Given the description of an element on the screen output the (x, y) to click on. 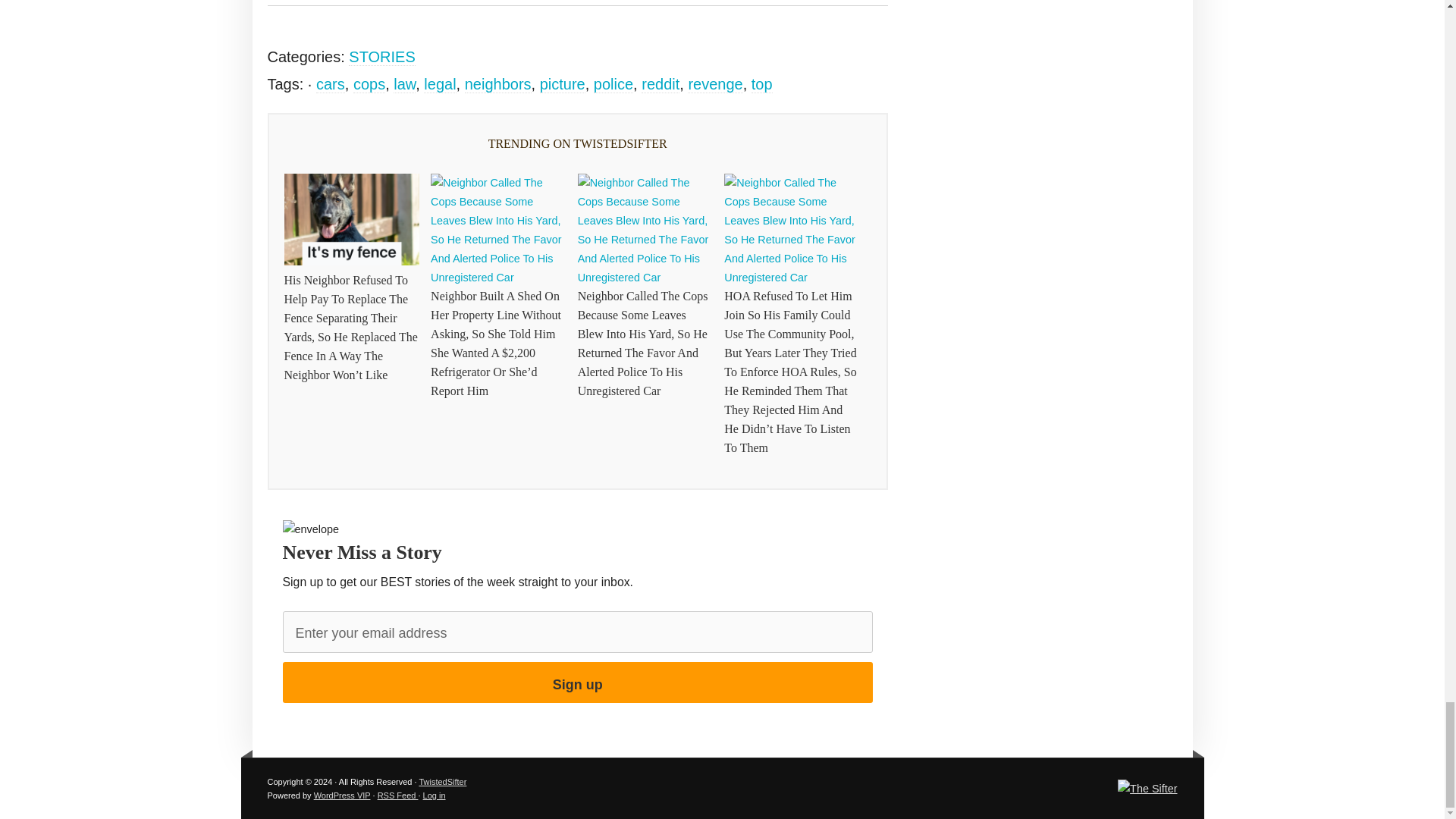
Sign up (577, 681)
cops (369, 84)
Feeling Sifty? (1147, 788)
law (403, 84)
legal (439, 84)
cars (330, 84)
STORIES (381, 57)
